Given the description of an element on the screen output the (x, y) to click on. 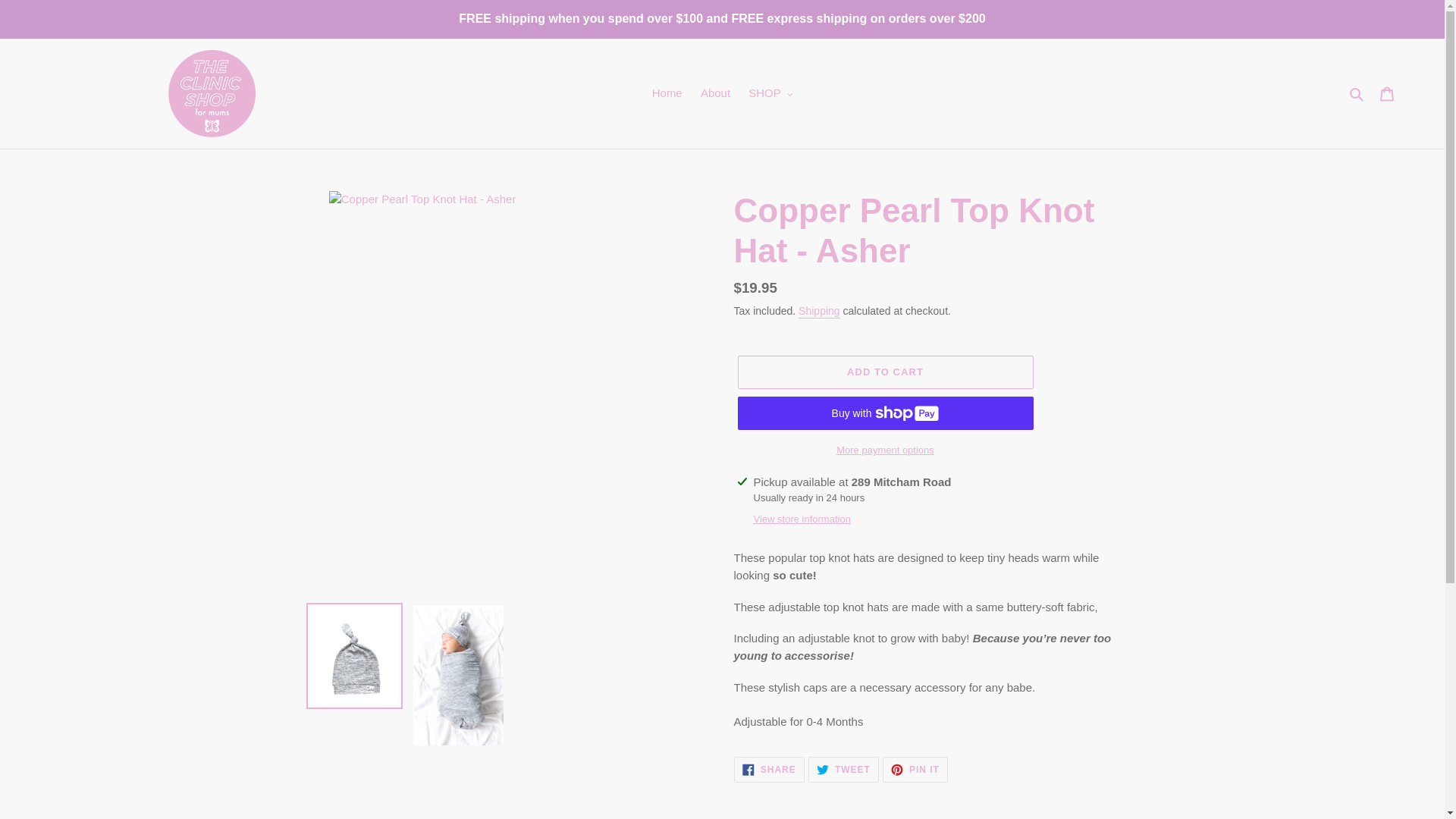
Search (1357, 93)
SHOP (770, 93)
About (715, 93)
Home (667, 93)
Cart (1387, 92)
